Given the description of an element on the screen output the (x, y) to click on. 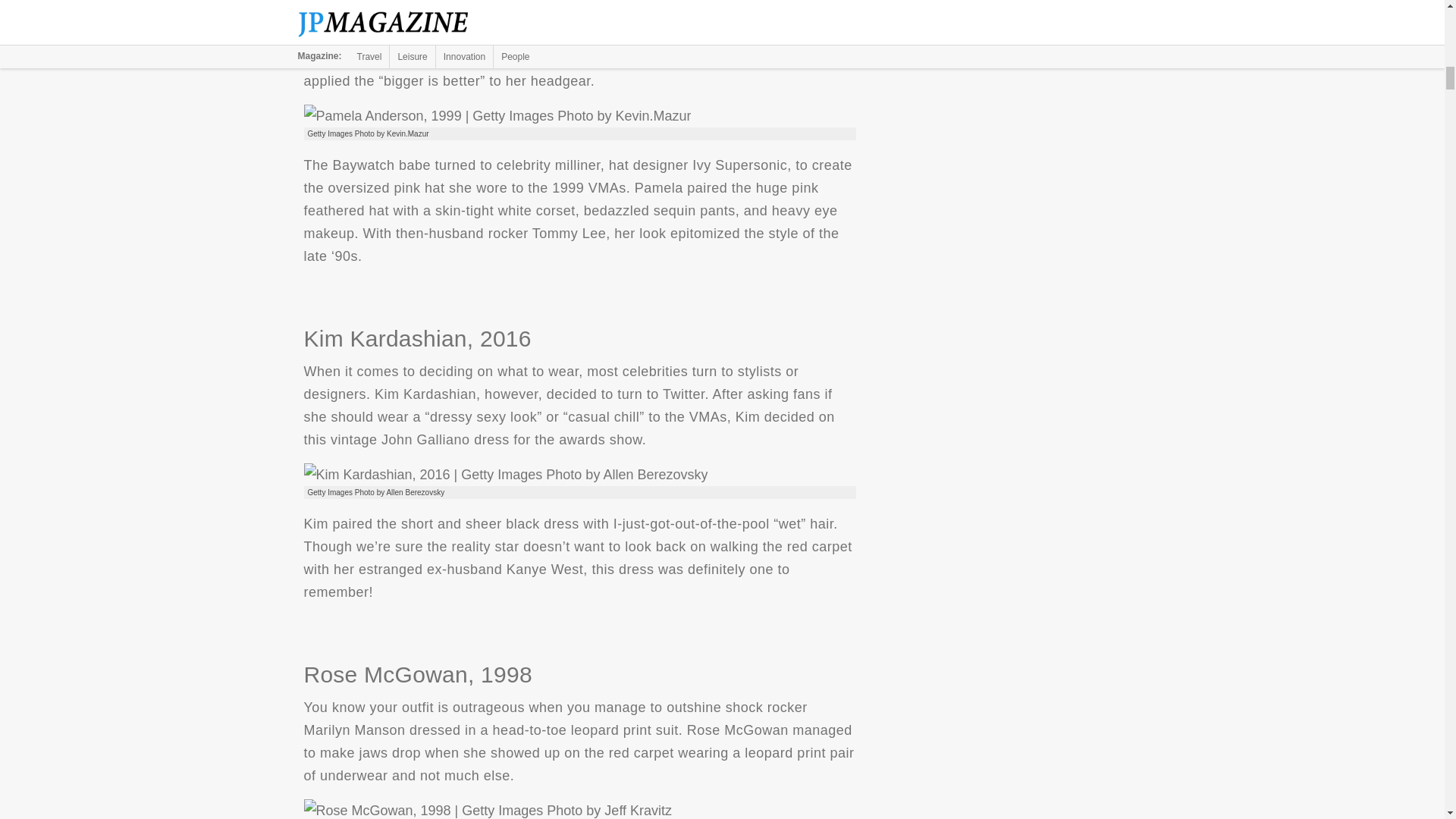
Pamela Anderson, 1999 (496, 115)
Kim Kardashian, 2016 (504, 474)
Rose McGowan, 1998 (486, 809)
